Given the description of an element on the screen output the (x, y) to click on. 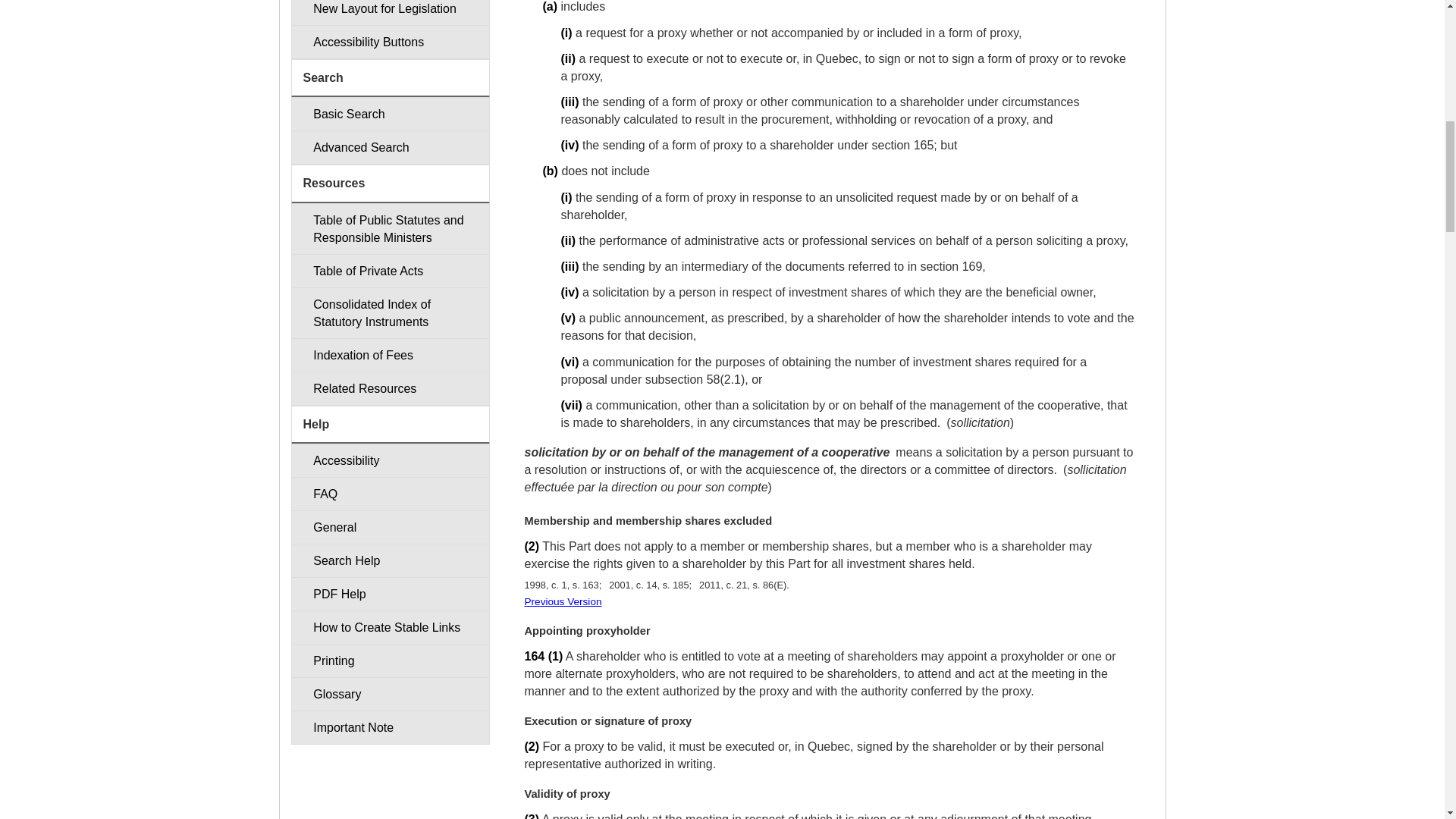
164 (534, 656)
Advanced Search - Justice Laws Website (390, 147)
Related Resources (390, 388)
Link to previous version of section 163 (563, 601)
Previous Version (563, 601)
Search - Justice Laws Website (390, 114)
Accessibility Help (390, 460)
